Given the description of an element on the screen output the (x, y) to click on. 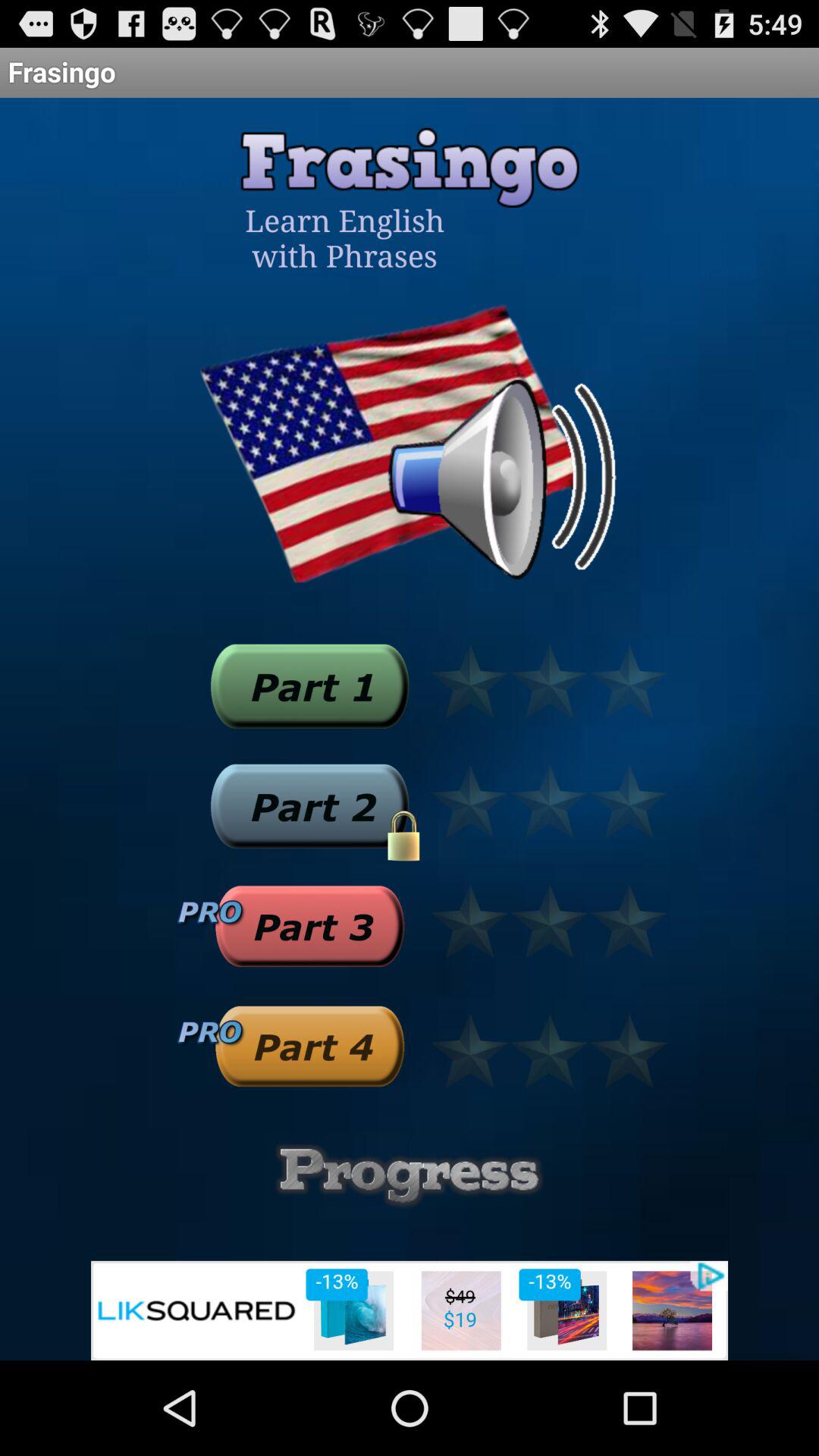
select part one (309, 686)
